Given the description of an element on the screen output the (x, y) to click on. 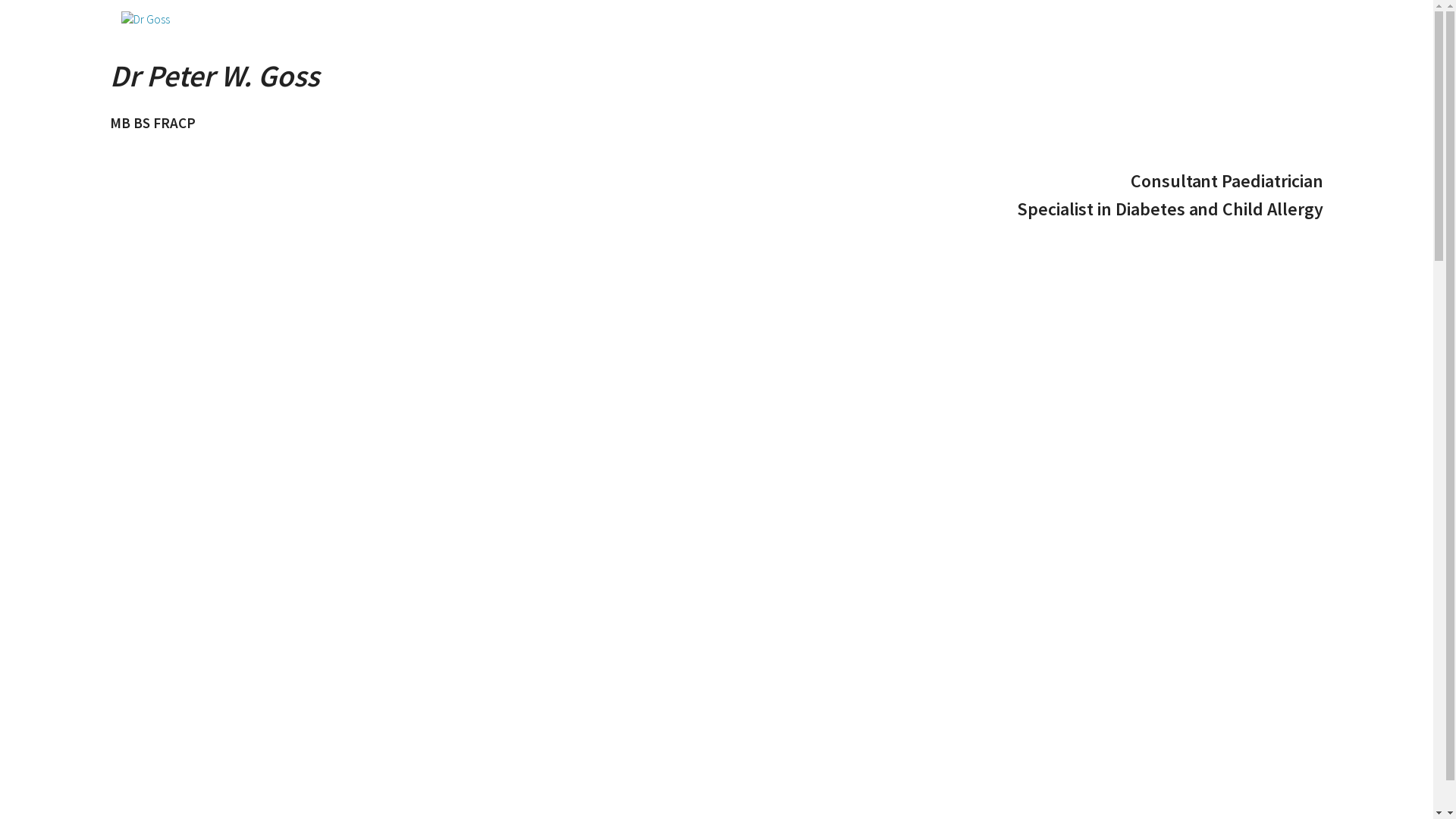
home Element type: hover (716, 18)
